Given the description of an element on the screen output the (x, y) to click on. 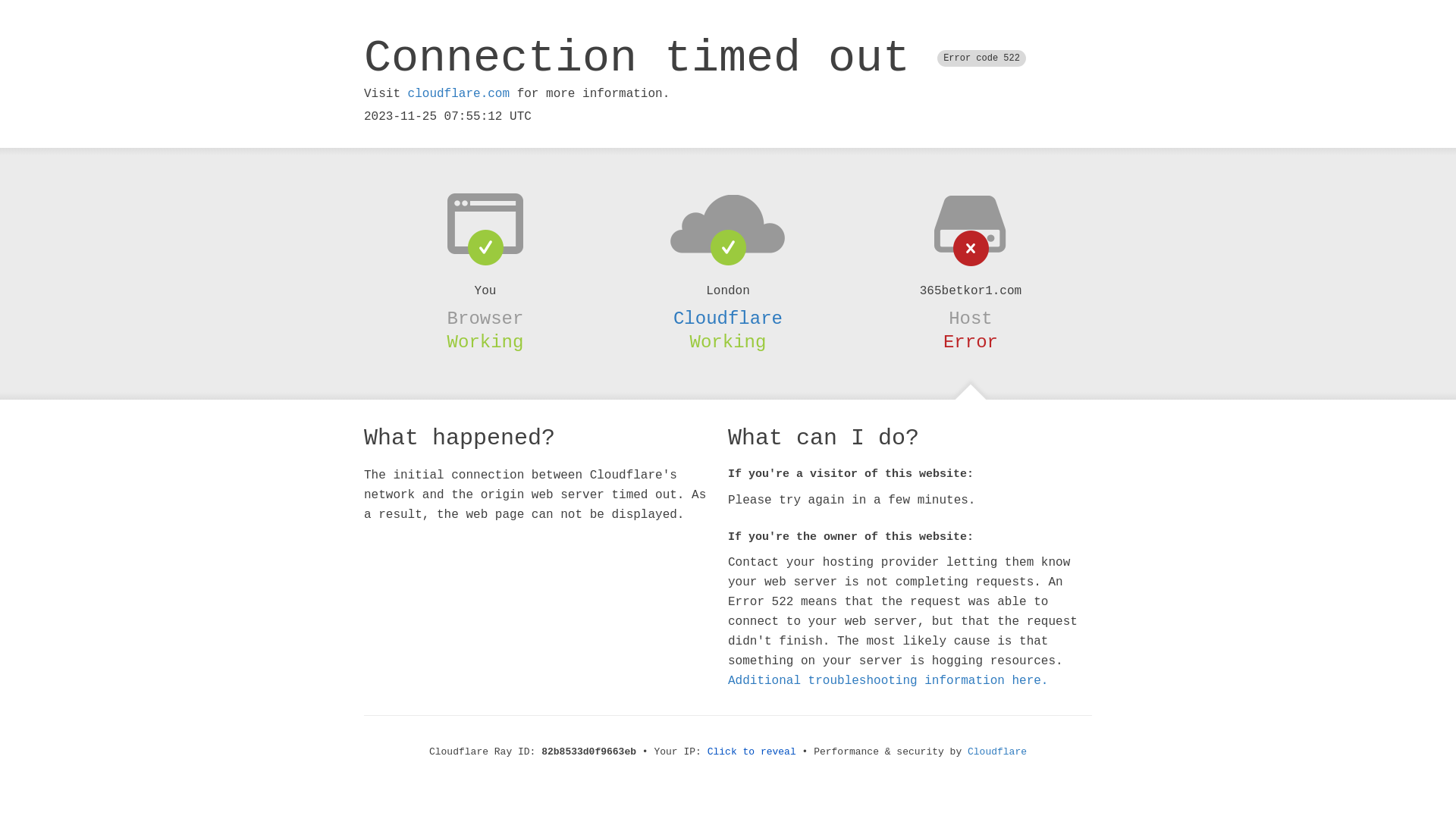
Click to reveal Element type: text (751, 751)
cloudflare.com Element type: text (458, 93)
Additional troubleshooting information here. Element type: text (888, 680)
Cloudflare Element type: text (727, 318)
Cloudflare Element type: text (996, 751)
